Given the description of an element on the screen output the (x, y) to click on. 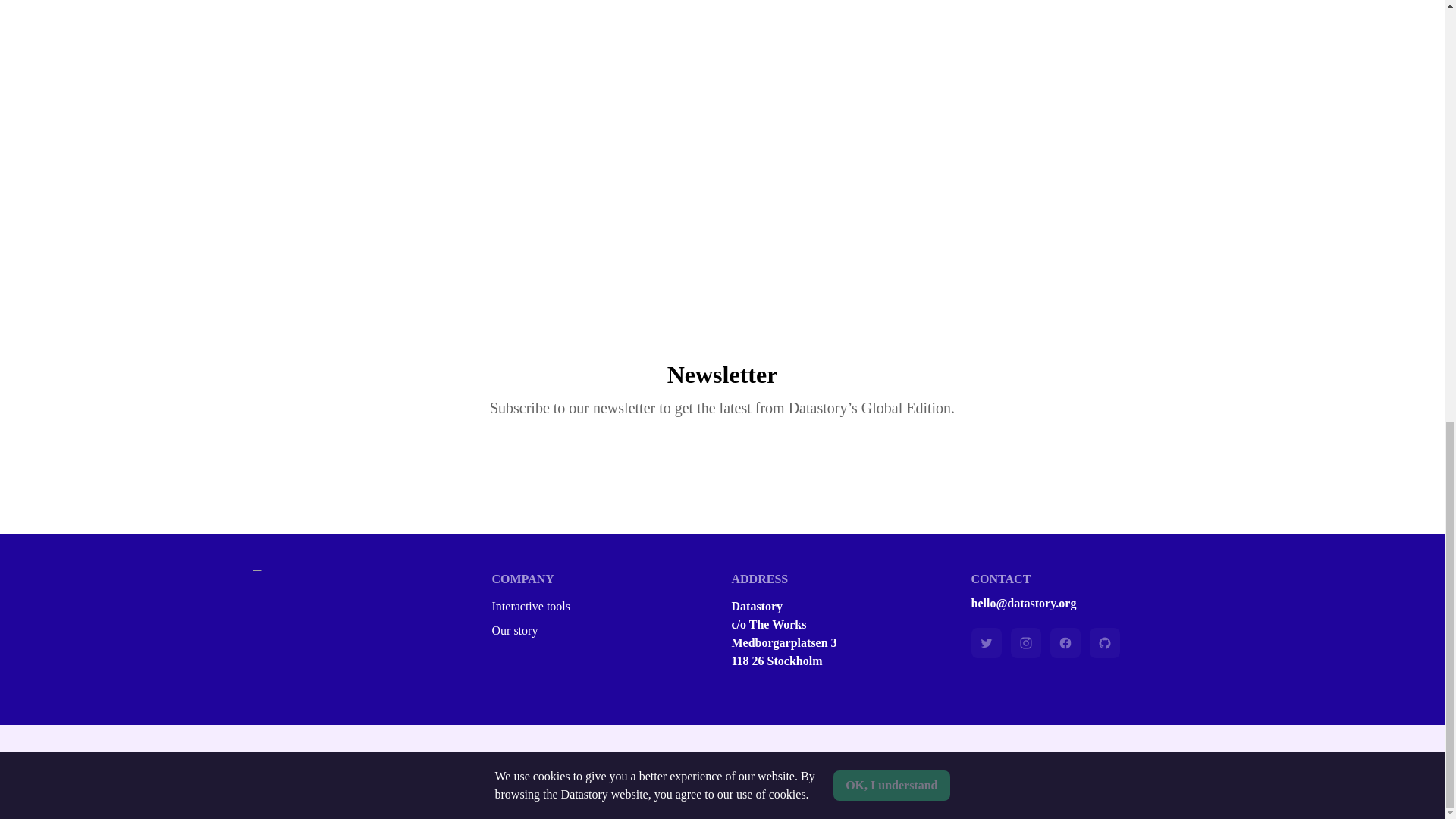
Our story (602, 630)
Interactive tools (602, 606)
